Given the description of an element on the screen output the (x, y) to click on. 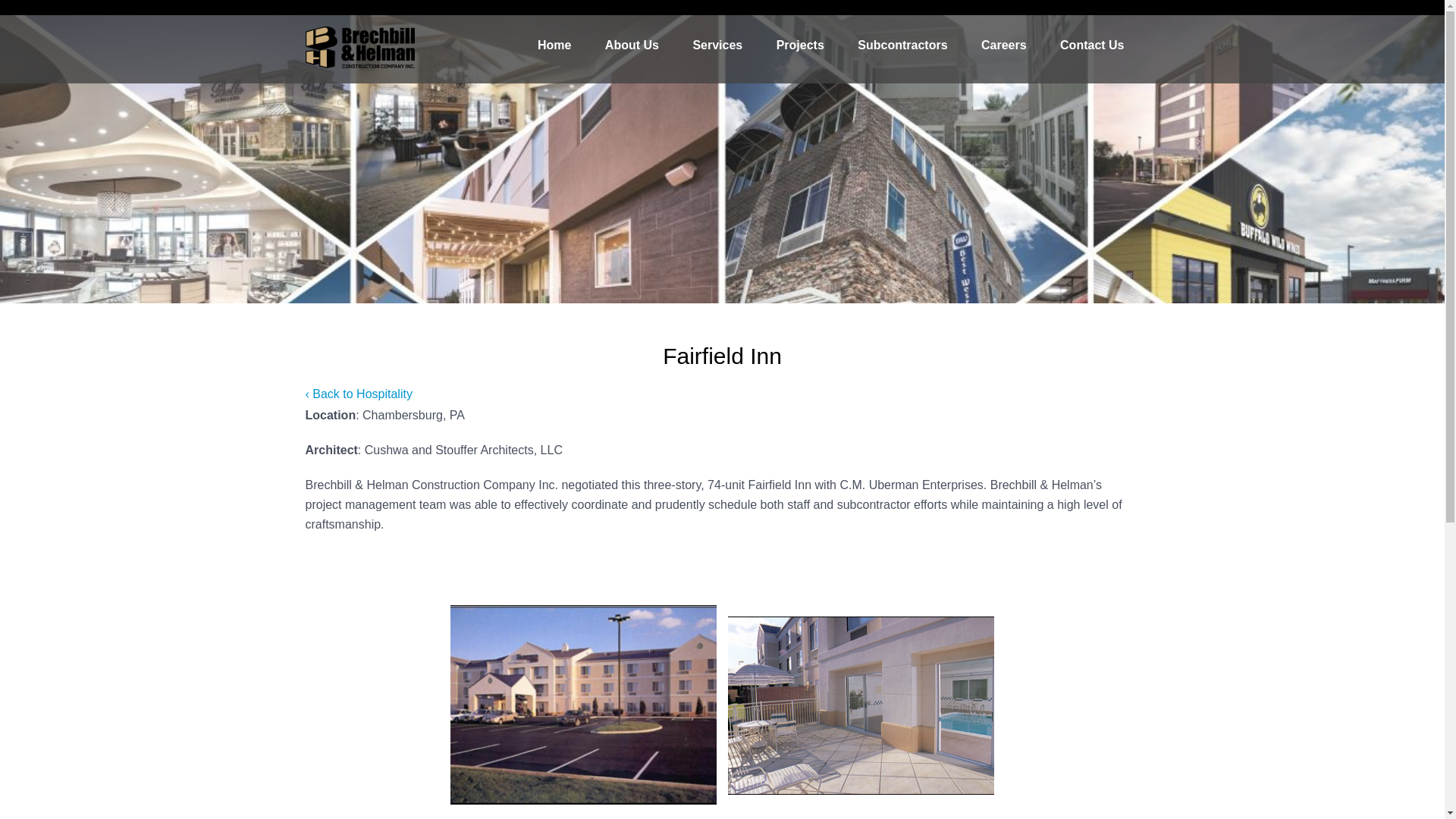
Home (554, 45)
Fairfield Inn (582, 704)
Careers (1004, 45)
Services (717, 45)
Fairfield Inn (861, 704)
Contact Us (1091, 45)
Subcontractors (902, 45)
About Us (631, 45)
Projects (800, 45)
